Given the description of an element on the screen output the (x, y) to click on. 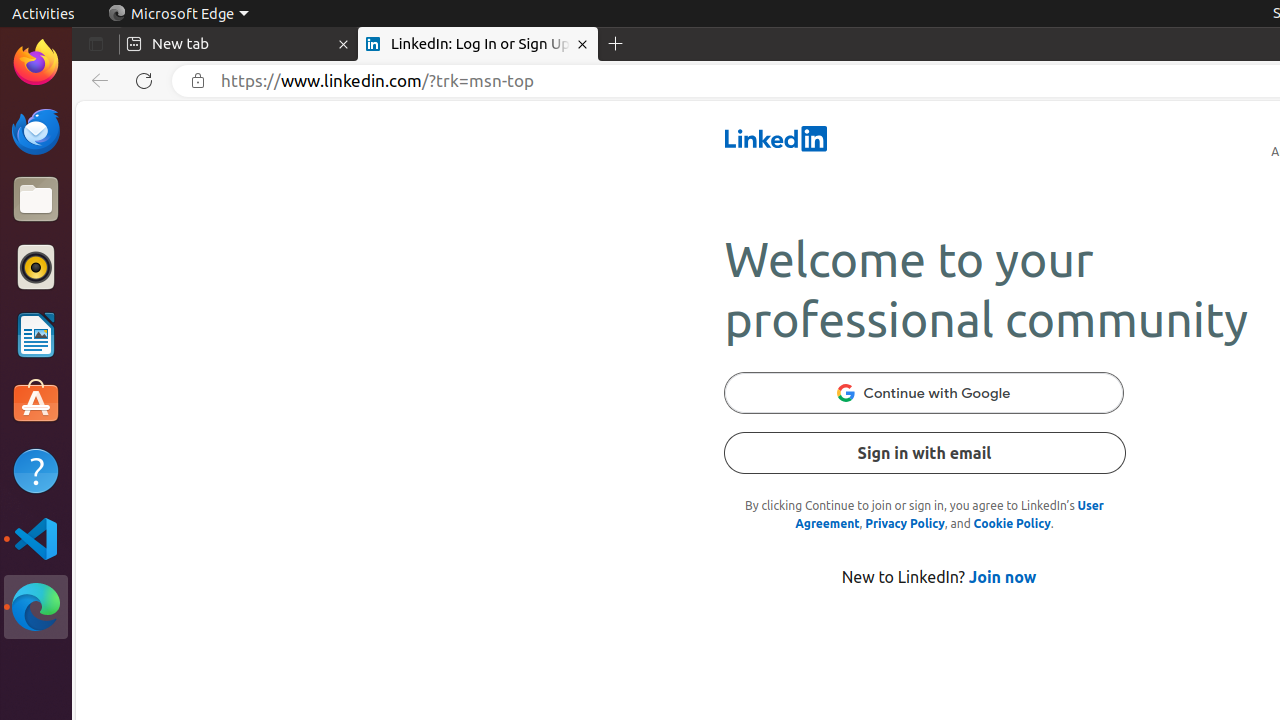
Microsoft Edge Element type: menu (178, 13)
Rhythmbox Element type: push-button (36, 267)
LibreOffice Writer Element type: push-button (36, 334)
Tab actions menu Element type: push-button (96, 44)
Visual Studio Code Element type: push-button (36, 538)
